Given the description of an element on the screen output the (x, y) to click on. 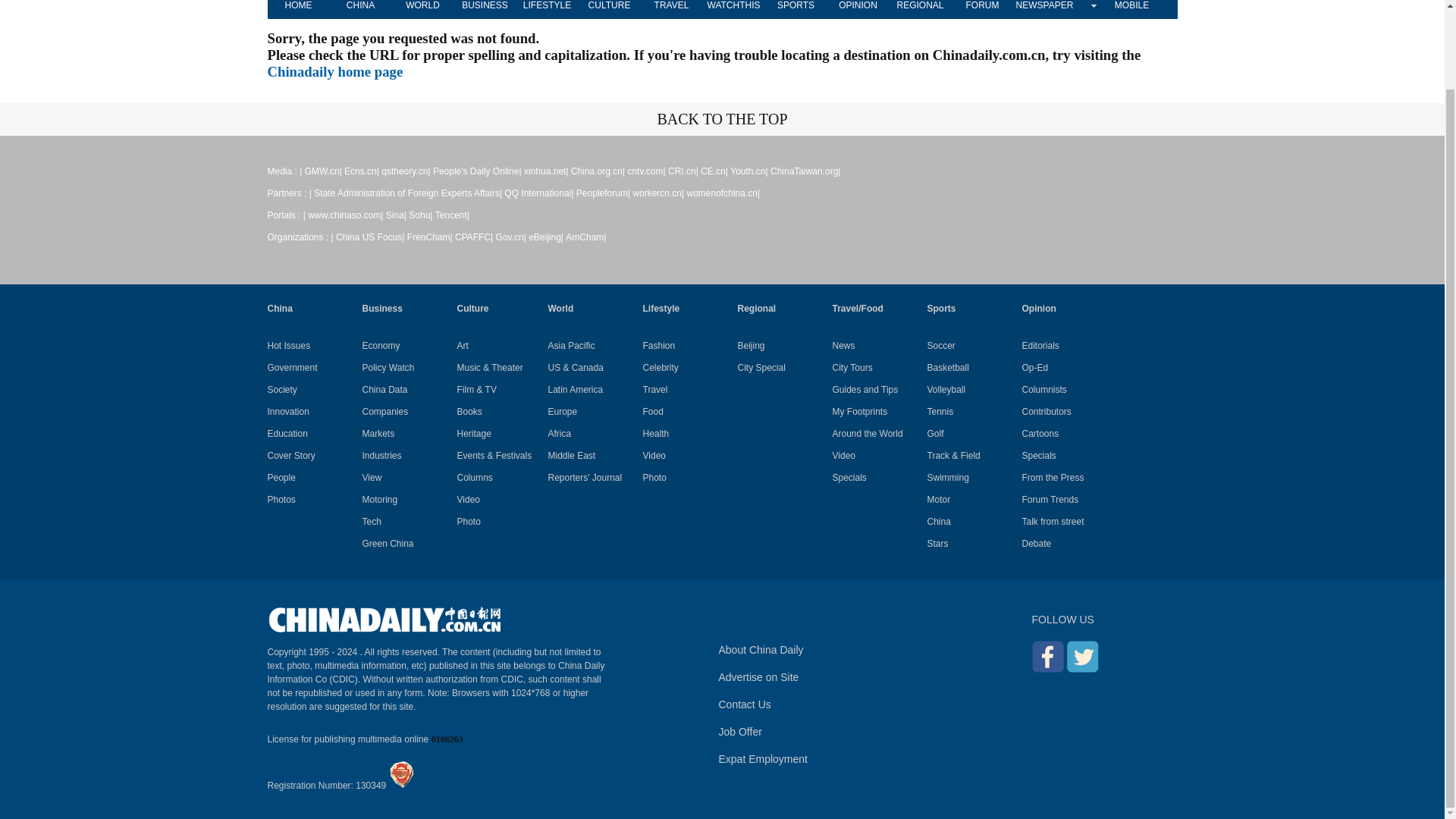
TRAVEL (670, 9)
BACK TO THE TOP (721, 118)
HOME (297, 9)
Chinadaily home page (334, 71)
WATCHTHIS (732, 9)
WORLD (421, 9)
OPINION (857, 9)
LIFESTYLE (546, 9)
BUSINESS (483, 9)
MOBILE (1131, 9)
